Given the description of an element on the screen output the (x, y) to click on. 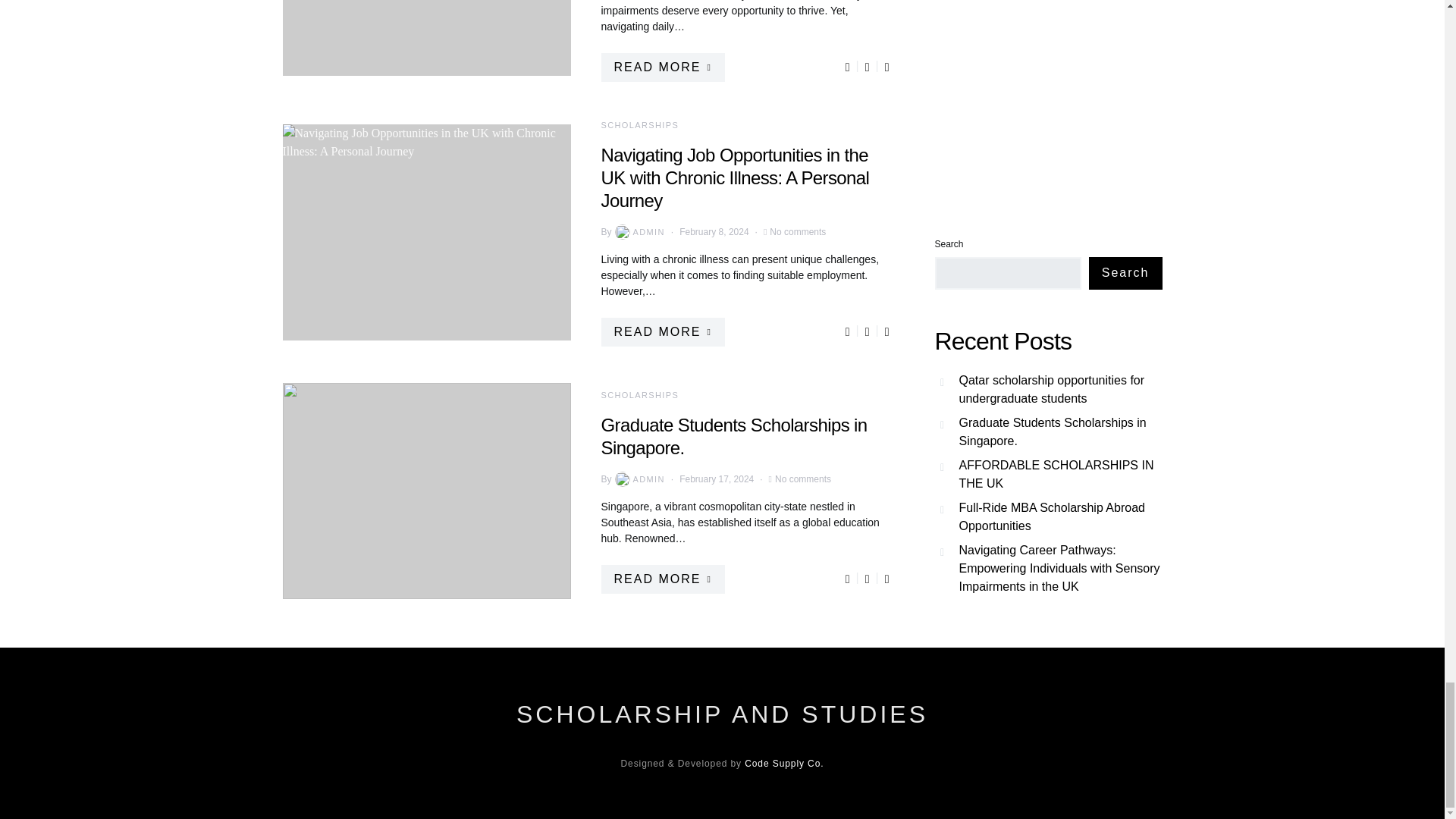
View all posts by Admin (638, 231)
View all posts by Admin (638, 478)
